Given the description of an element on the screen output the (x, y) to click on. 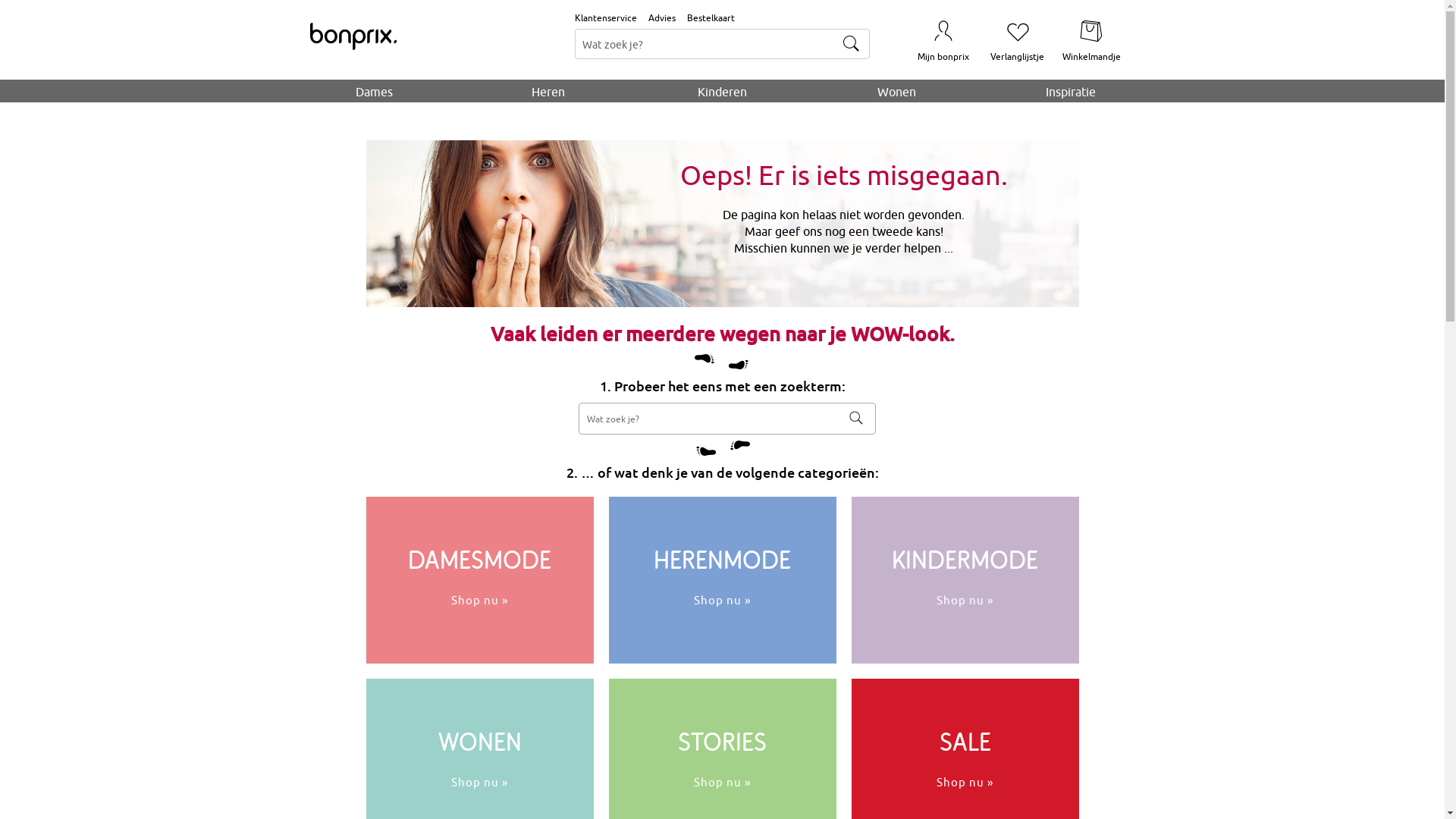
Bonprix Element type: hover (352, 36)
Advies Element type: text (661, 17)
Wonen Element type: text (896, 91)
Kinderen Element type: text (722, 91)
Zoeken Element type: text (854, 417)
Bestelkaart Element type: text (710, 17)
Dames Element type: text (374, 91)
Verlanglijstje Element type: text (1017, 39)
Klantenservice Element type: text (605, 17)
Heren Element type: text (548, 91)
Inspiratie Element type: text (1070, 91)
Winkelmandje Element type: text (1090, 39)
